Given the description of an element on the screen output the (x, y) to click on. 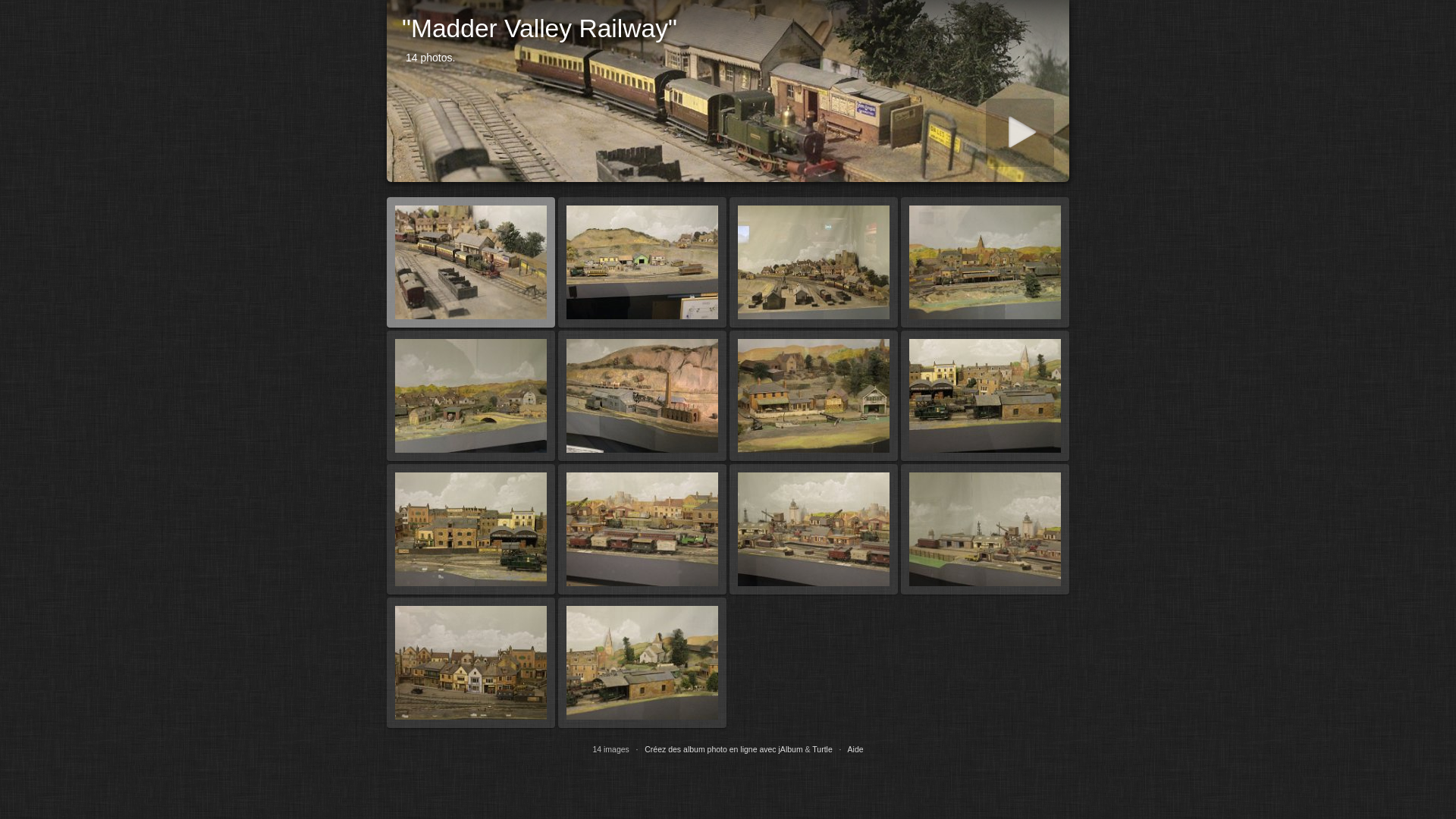
Turtle Element type: text (821, 748)
Aide Element type: text (855, 748)
